Given the description of an element on the screen output the (x, y) to click on. 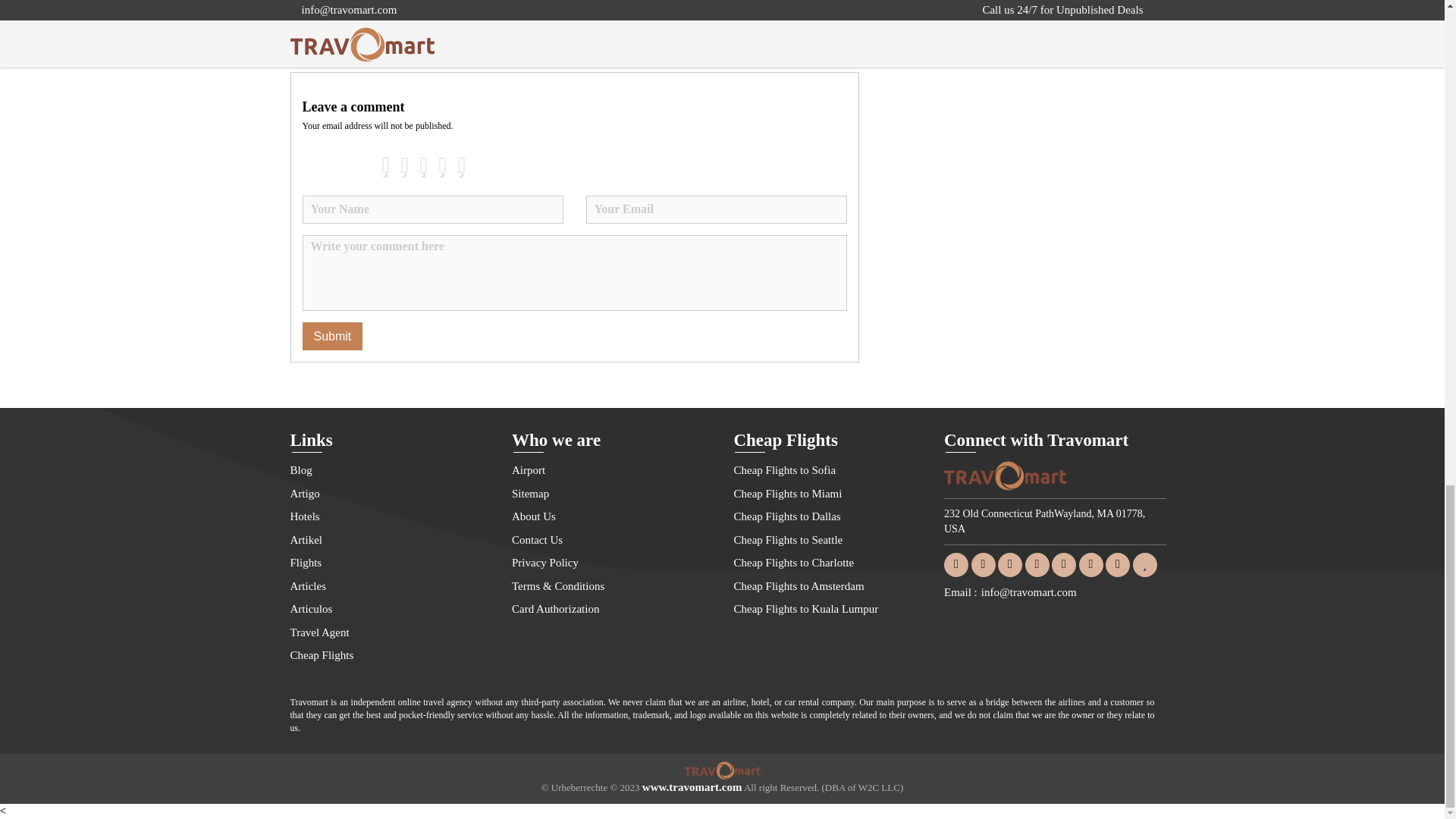
Flights (388, 563)
Airport (611, 470)
Cheap Flights to Dallas (832, 516)
Articulos (388, 609)
Cheap Flights to Sofia (832, 470)
Hotels (388, 516)
Contact Us (611, 540)
Linkedin (1037, 563)
Privacy Policy (611, 563)
Twitter (982, 563)
Artikel (388, 540)
Invalid email address (715, 209)
Facebook (955, 563)
Cheap Flights to Charlotte (832, 563)
Google Plus (1009, 563)
